Given the description of an element on the screen output the (x, y) to click on. 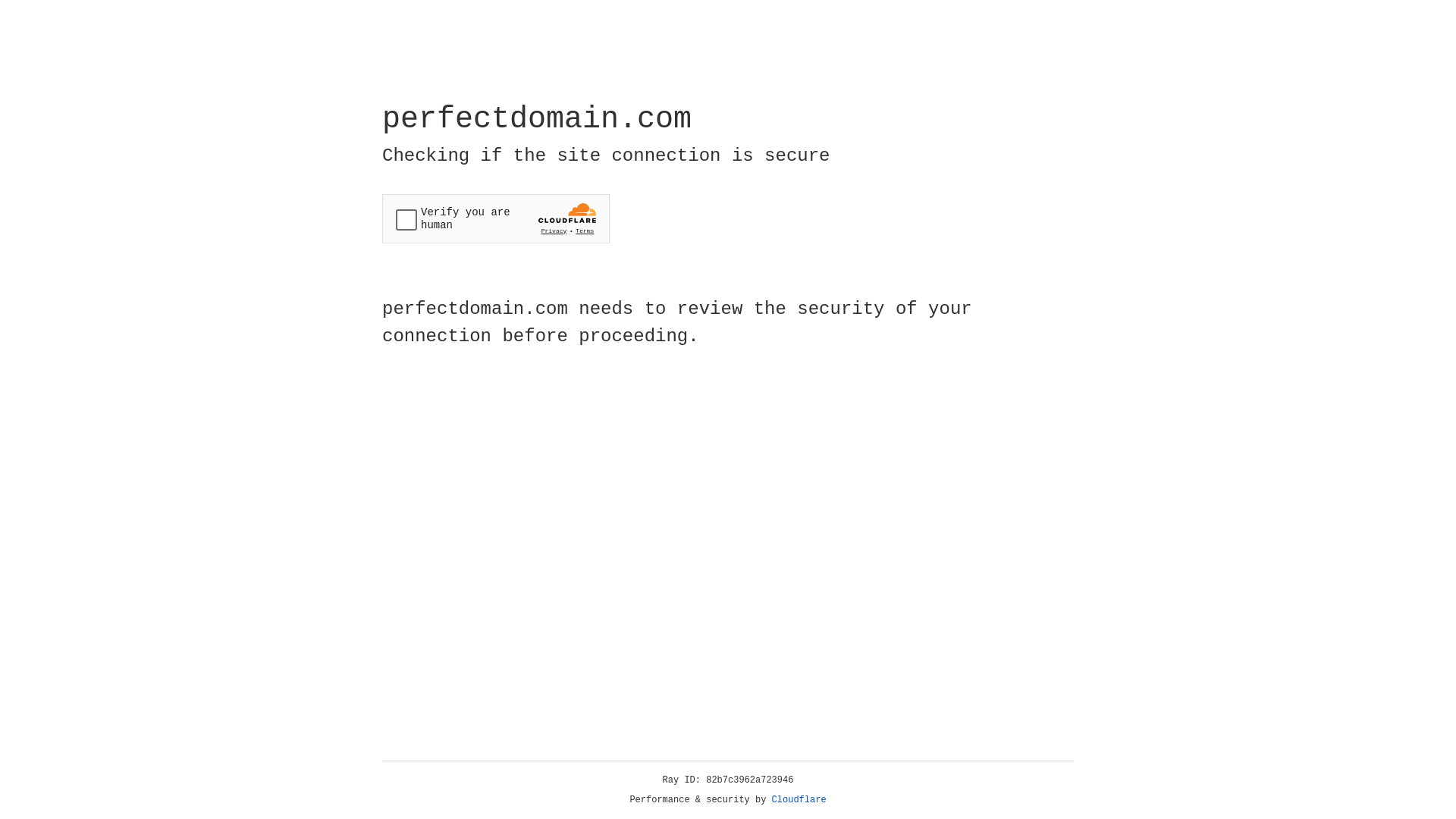
Cloudflare Element type: text (798, 799)
Widget containing a Cloudflare security challenge Element type: hover (495, 218)
